Given the description of an element on the screen output the (x, y) to click on. 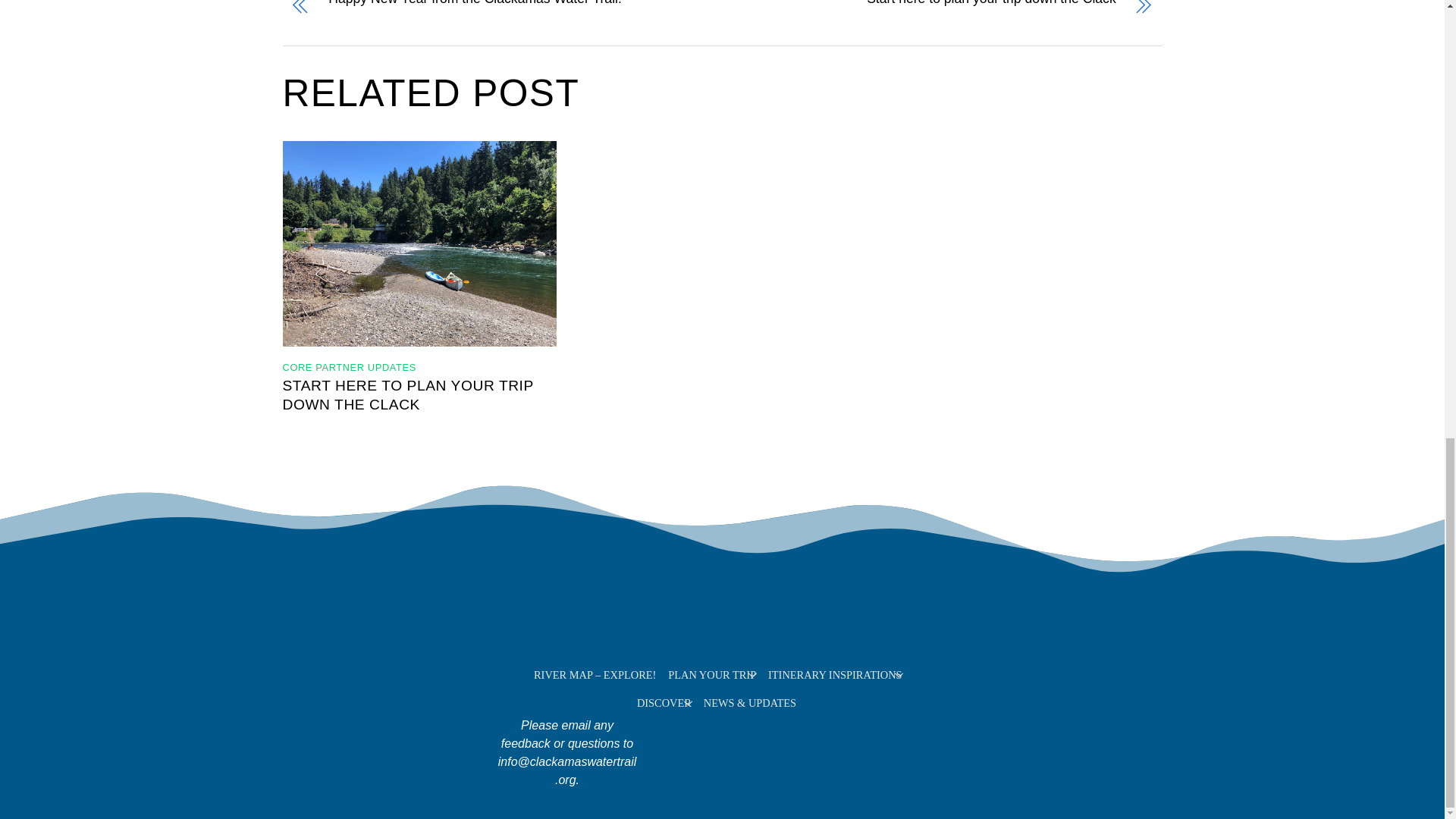
Happy New Year from the Clackamas Water Trail! (502, 11)
Start here to plan your trip down the Clack (941, 11)
CORE PARTNER UPDATES (348, 367)
START HERE TO PLAN YOUR TRIP DOWN THE CLACK (407, 394)
